Given the description of an element on the screen output the (x, y) to click on. 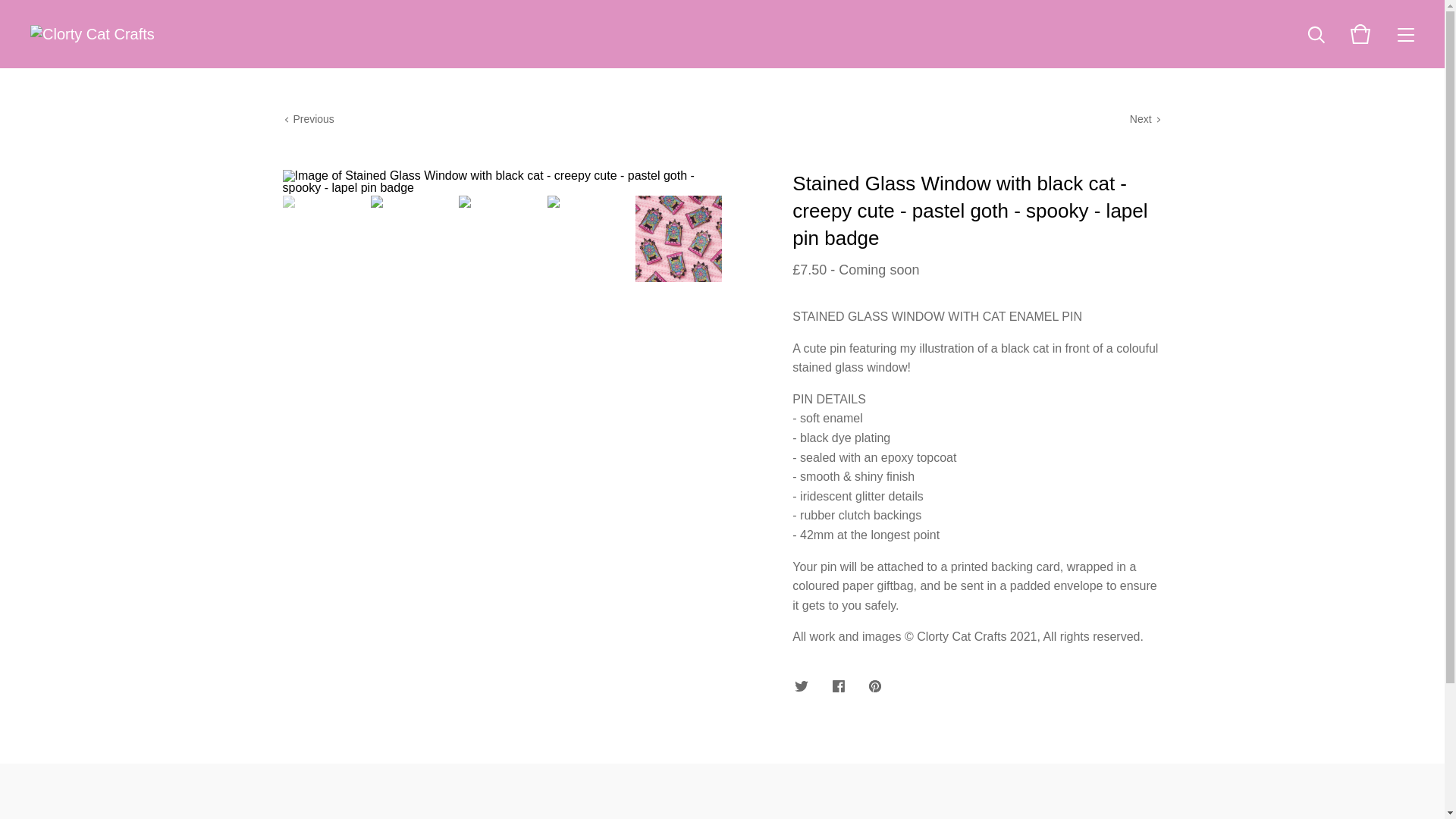
Menu (1405, 33)
View Next Product (1145, 118)
View Previous Product (307, 118)
Clorty Cat Crafts (92, 34)
Previous (307, 118)
Next (1145, 118)
